Given the description of an element on the screen output the (x, y) to click on. 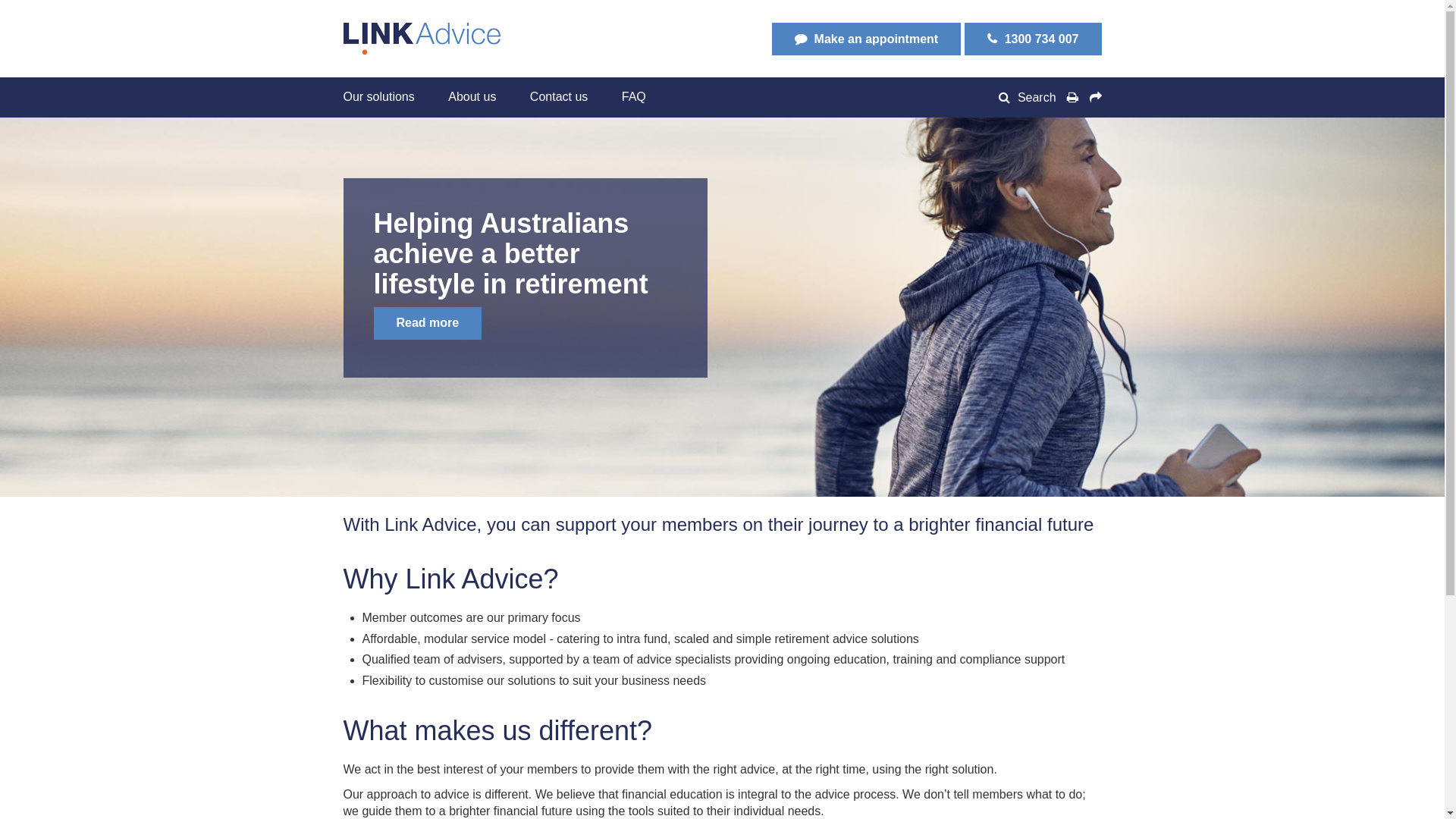
About us Element type: text (472, 96)
Contact us Element type: text (558, 96)
Make an appointment Element type: text (866, 38)
Email this page Element type: hover (1093, 97)
Search Element type: text (1029, 97)
1300 734 007 Element type: text (1032, 38)
FAQ Element type: text (633, 96)
Our solutions Element type: text (385, 96)
Read more Element type: text (427, 322)
Print this page Element type: hover (1072, 97)
